Given the description of an element on the screen output the (x, y) to click on. 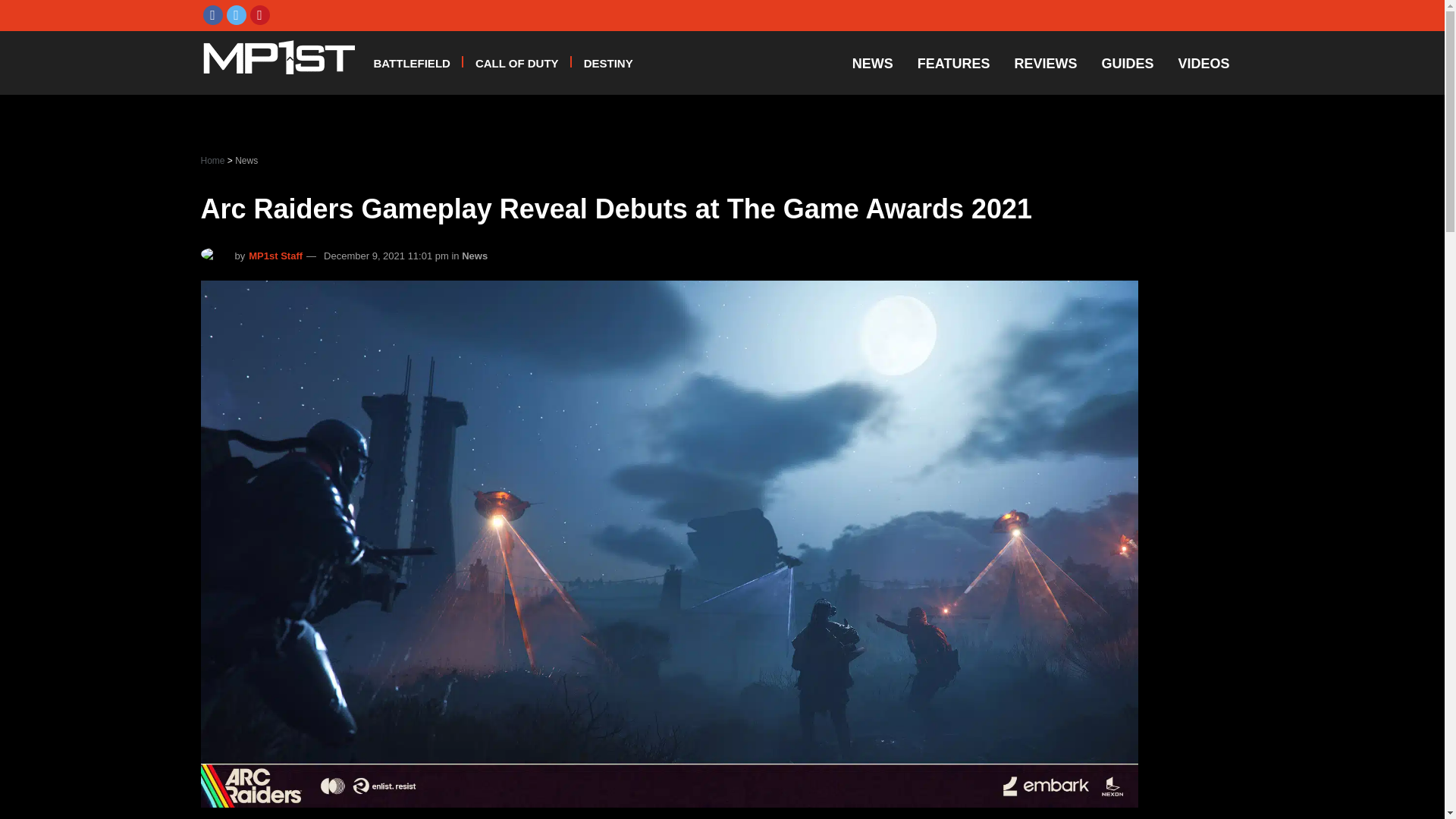
December 9, 2021 11:01 pm (385, 255)
BATTLEFIELD (410, 62)
CALL OF DUTY (517, 62)
NEWS (872, 63)
VIDEOS (1203, 63)
News (245, 160)
MP1st Staff (275, 256)
REVIEWS (1045, 63)
News (474, 255)
FEATURES (954, 63)
Home (213, 160)
DESTINY (608, 62)
GUIDES (1127, 63)
